Given the description of an element on the screen output the (x, y) to click on. 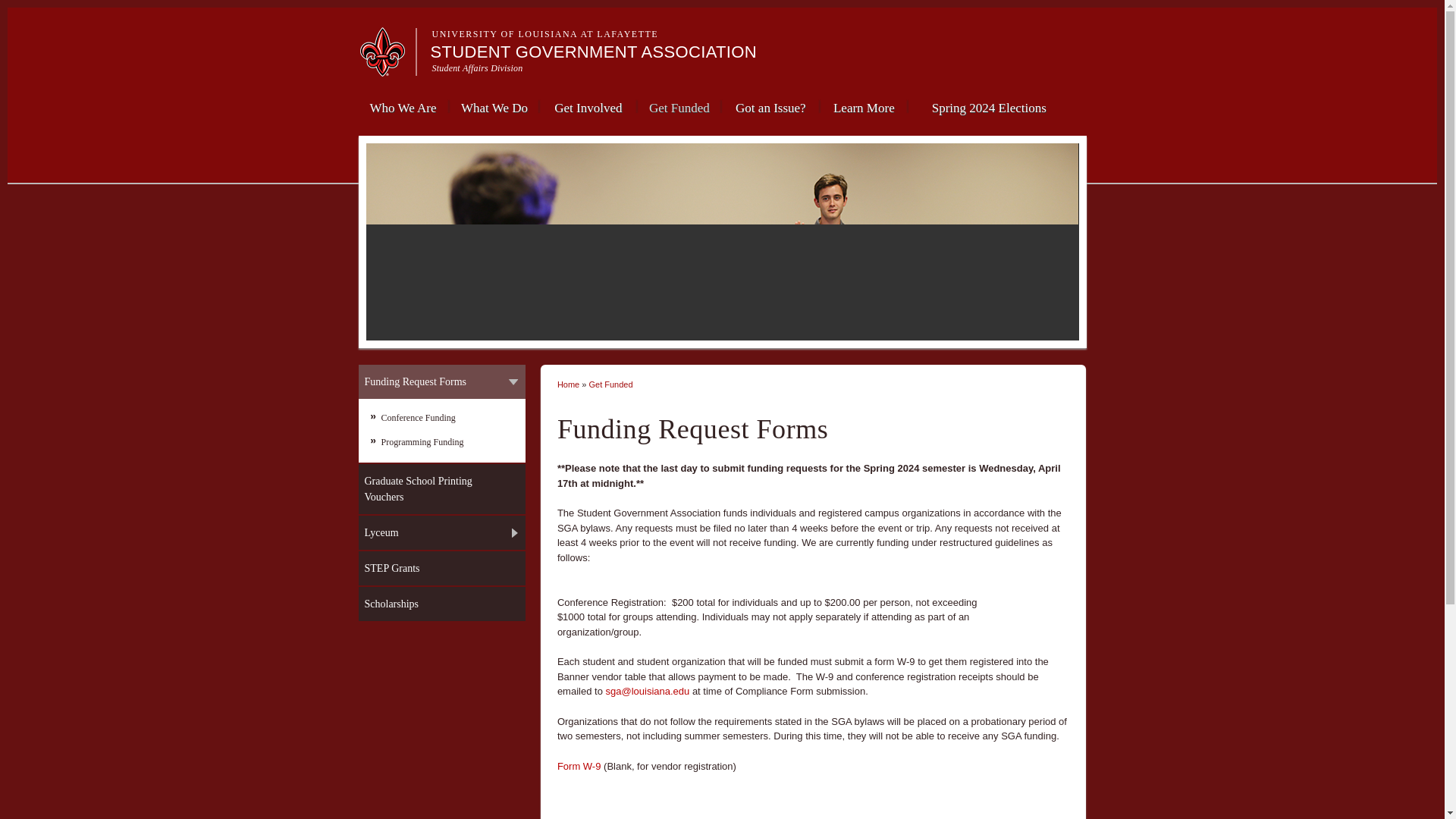
What We Do (493, 106)
Got an Issue? (770, 106)
UNIVERSITY OF LOUISIANA AT LAFAYETTE (545, 33)
Louisiana.edu (387, 69)
STUDENT GOVERNMENT ASSOCIATION (593, 51)
Get Funded (679, 106)
Explore (1048, 20)
Home (593, 51)
Who We Are (402, 106)
Skip to main content (693, 1)
